Given the description of an element on the screen output the (x, y) to click on. 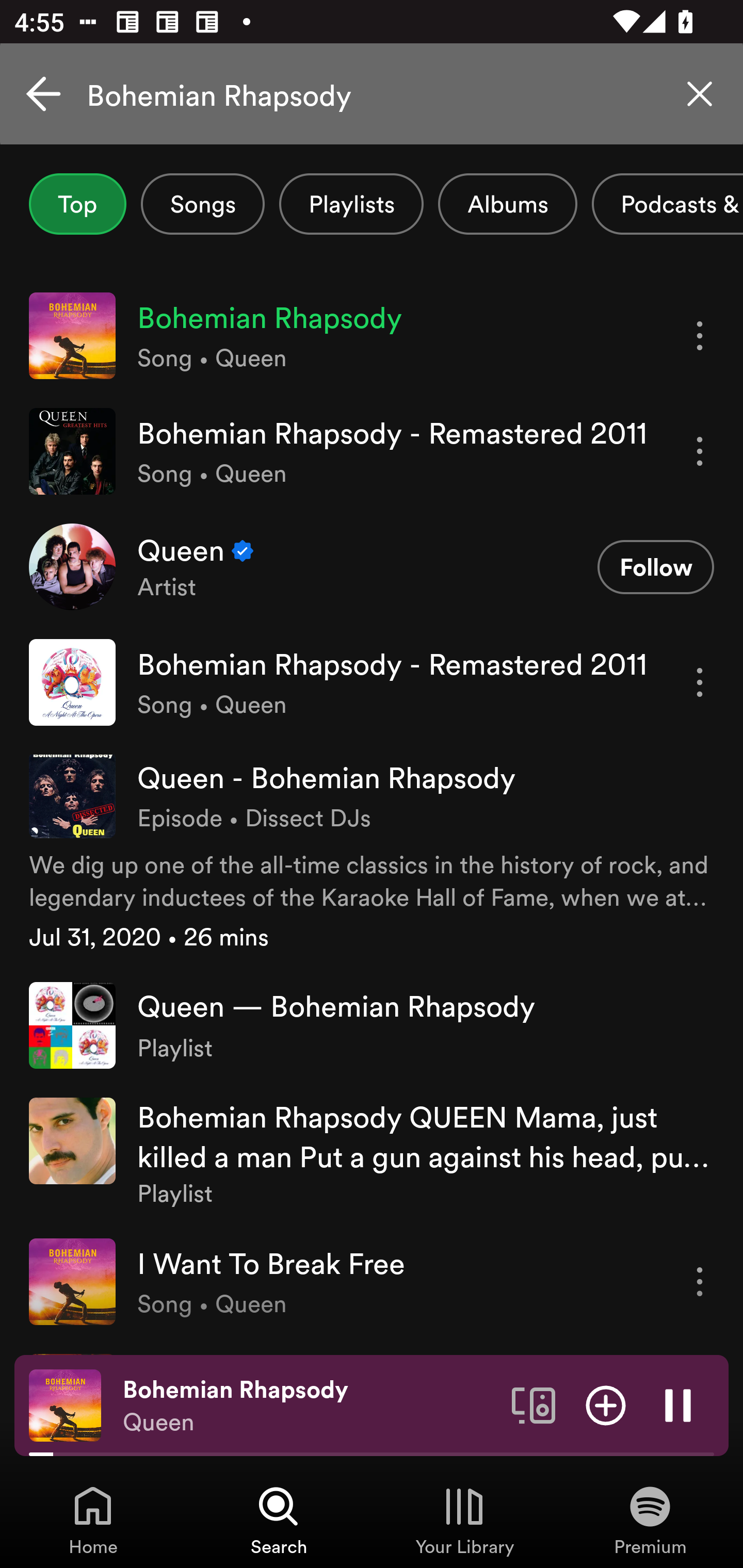
Bohemian Rhapsody (371, 93)
Cancel (43, 93)
Clear search query (699, 93)
Top (77, 203)
Songs (202, 203)
Playlists (351, 203)
Albums (507, 203)
Podcasts & Shows (667, 203)
More options for song Bohemian Rhapsody (699, 336)
Queen Verified Artist Follow Follow (371, 566)
Follow (655, 566)
Queen — Bohemian Rhapsody Playlist (371, 1025)
More options for song I Want To Break Free (699, 1281)
Bohemian Rhapsody Queen (309, 1405)
The cover art of the currently playing track (64, 1404)
Connect to a device. Opens the devices menu (533, 1404)
Add item (605, 1404)
Pause (677, 1404)
Home, Tab 1 of 4 Home Home (92, 1519)
Search, Tab 2 of 4 Search Search (278, 1519)
Your Library, Tab 3 of 4 Your Library Your Library (464, 1519)
Premium, Tab 4 of 4 Premium Premium (650, 1519)
